Given the description of an element on the screen output the (x, y) to click on. 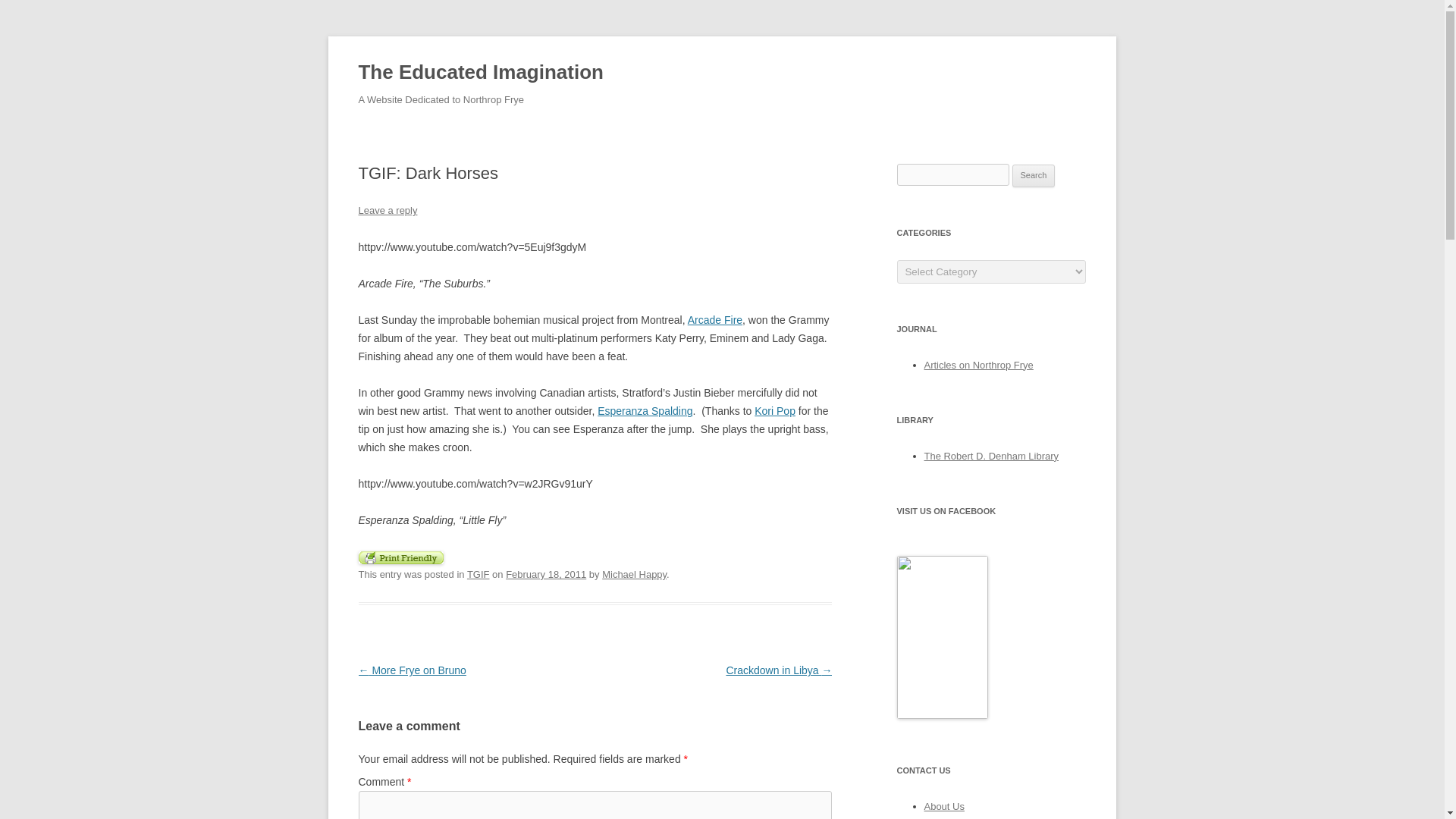
February 18, 2011 (545, 573)
Articles on Northrop Frye (977, 365)
The Robert D. Denham Library (990, 455)
Leave a reply (387, 210)
Arcade Fire (714, 319)
TGIF (478, 573)
Esperanza Spalding (644, 410)
Michael Happy (634, 573)
Kori Pop (774, 410)
Search (1033, 175)
Search (1033, 175)
The Educated Imagination (480, 72)
About Us (943, 806)
4:44 pm (545, 573)
